Given the description of an element on the screen output the (x, y) to click on. 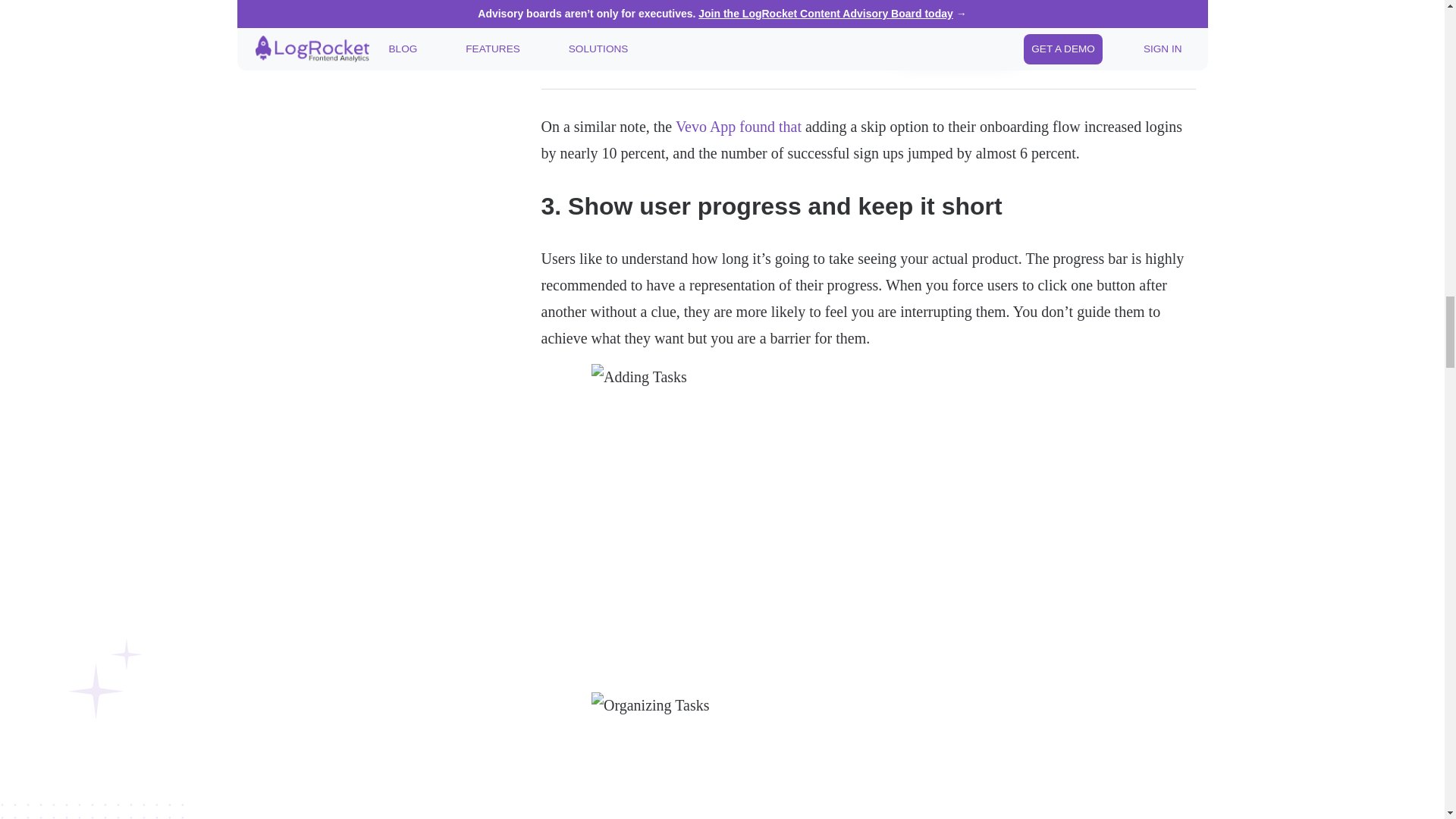
Vevo App found that (738, 126)
